Given the description of an element on the screen output the (x, y) to click on. 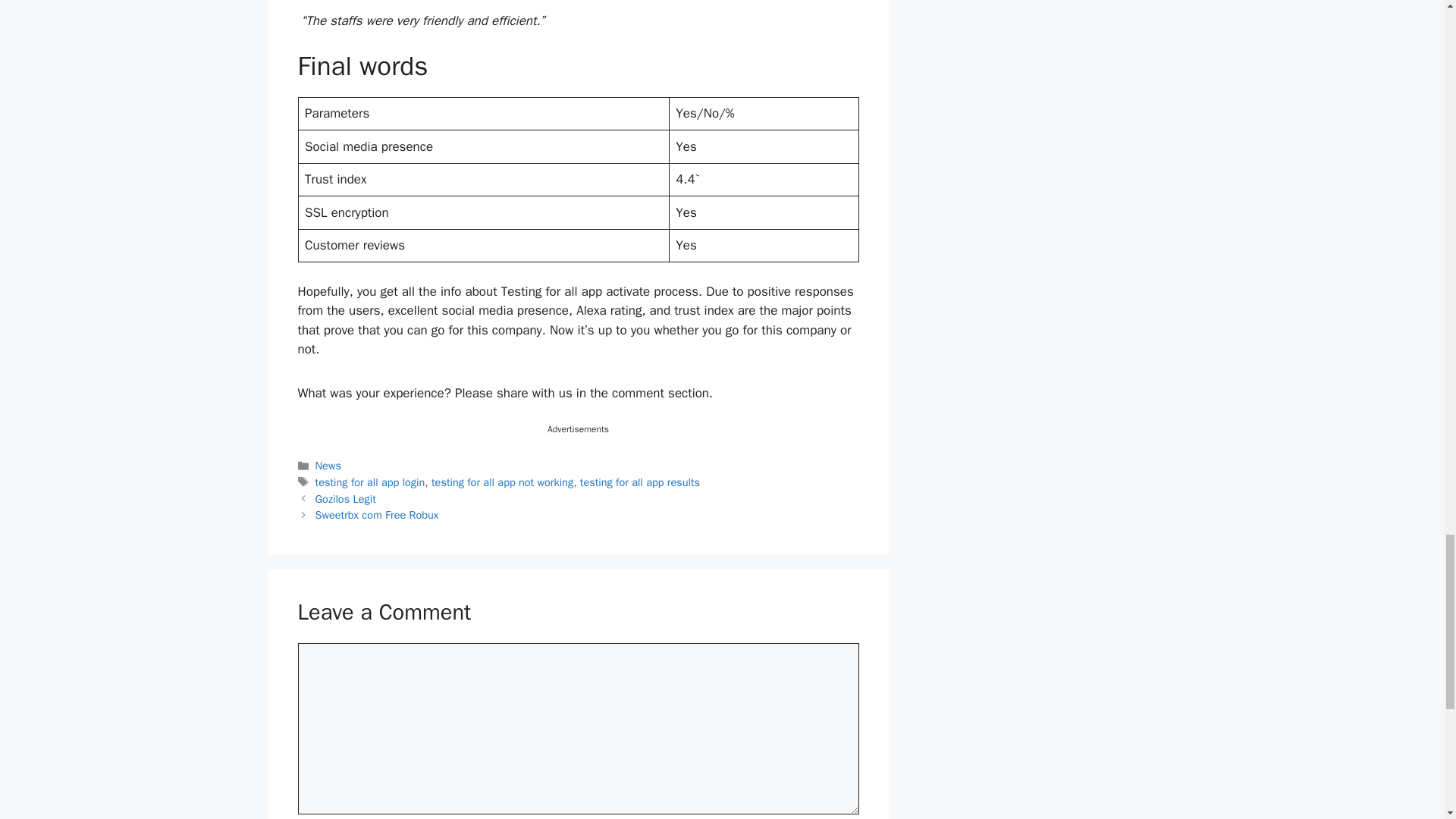
testing for all app login (370, 481)
Gozilos Legit (345, 499)
testing for all app results (639, 481)
News (327, 465)
testing for all app not working (501, 481)
Sweetrbx com Free Robux (377, 514)
